Given the description of an element on the screen output the (x, y) to click on. 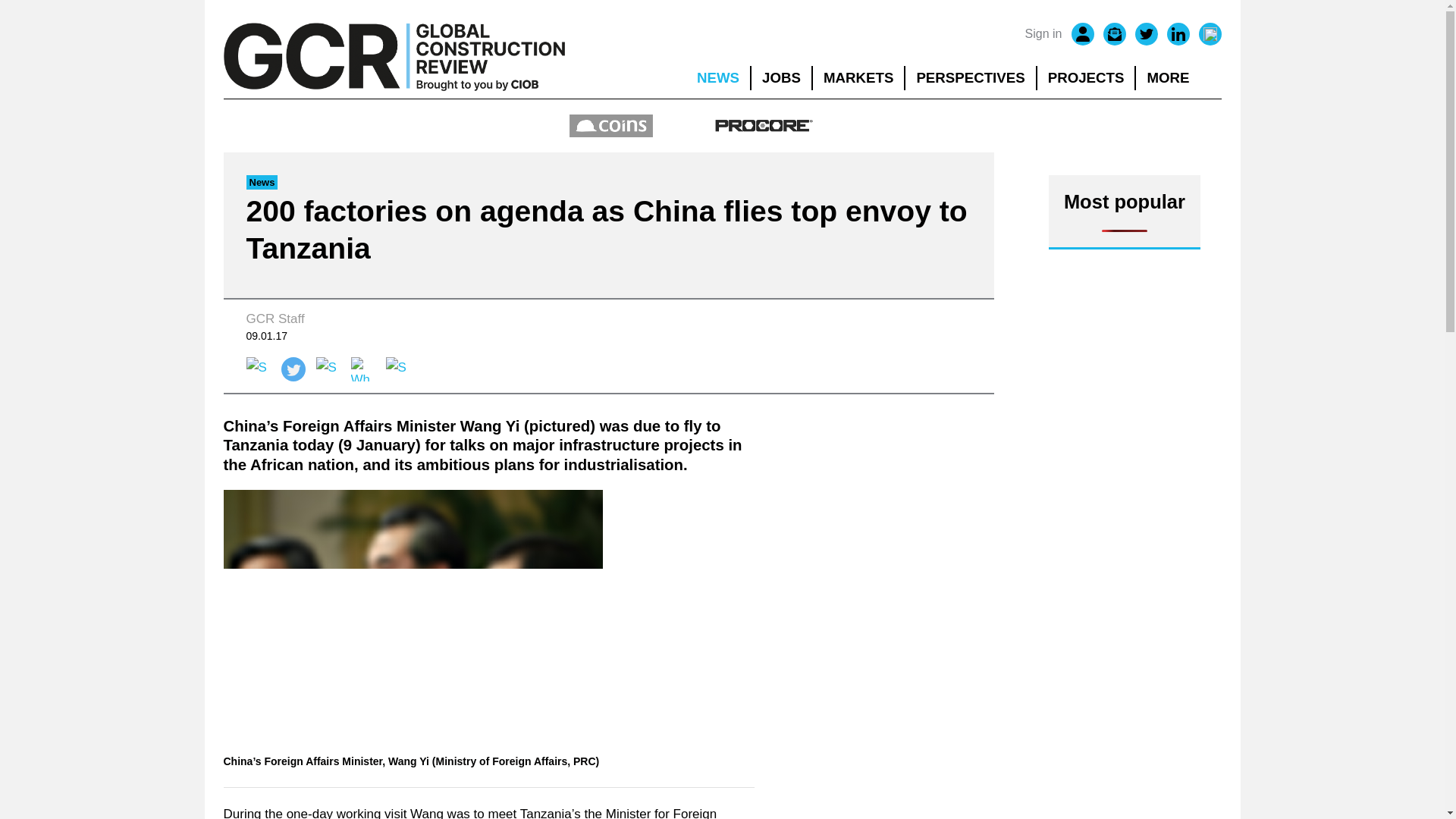
NEWS (717, 78)
Sign in (1043, 34)
MORE (1178, 78)
Share on Facebook (257, 369)
MARKETS (858, 78)
Tweet (292, 369)
Share on LinkedIn (327, 369)
Share on WhatsApp (362, 369)
PROJECTS (1085, 78)
JOBS (780, 78)
